Given the description of an element on the screen output the (x, y) to click on. 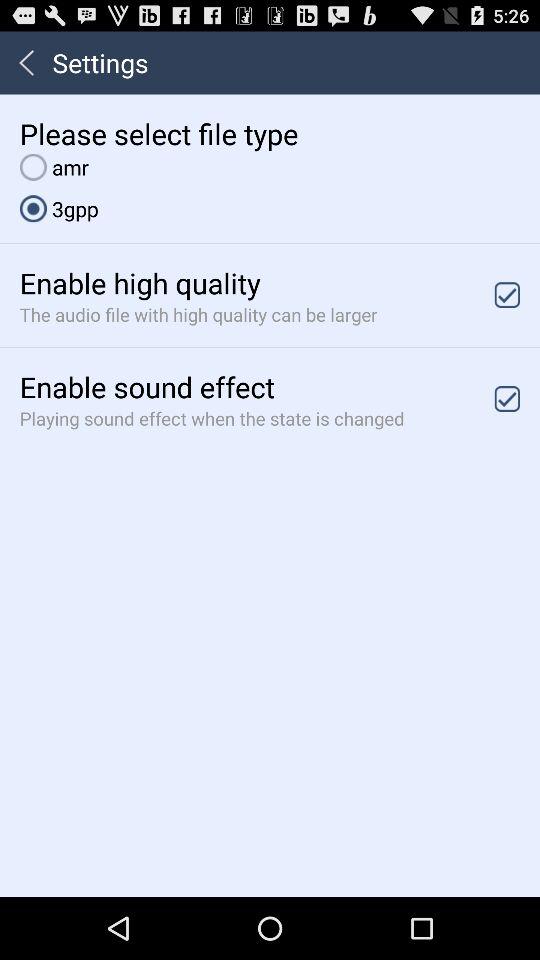
toggle sound effect (507, 398)
